Given the description of an element on the screen output the (x, y) to click on. 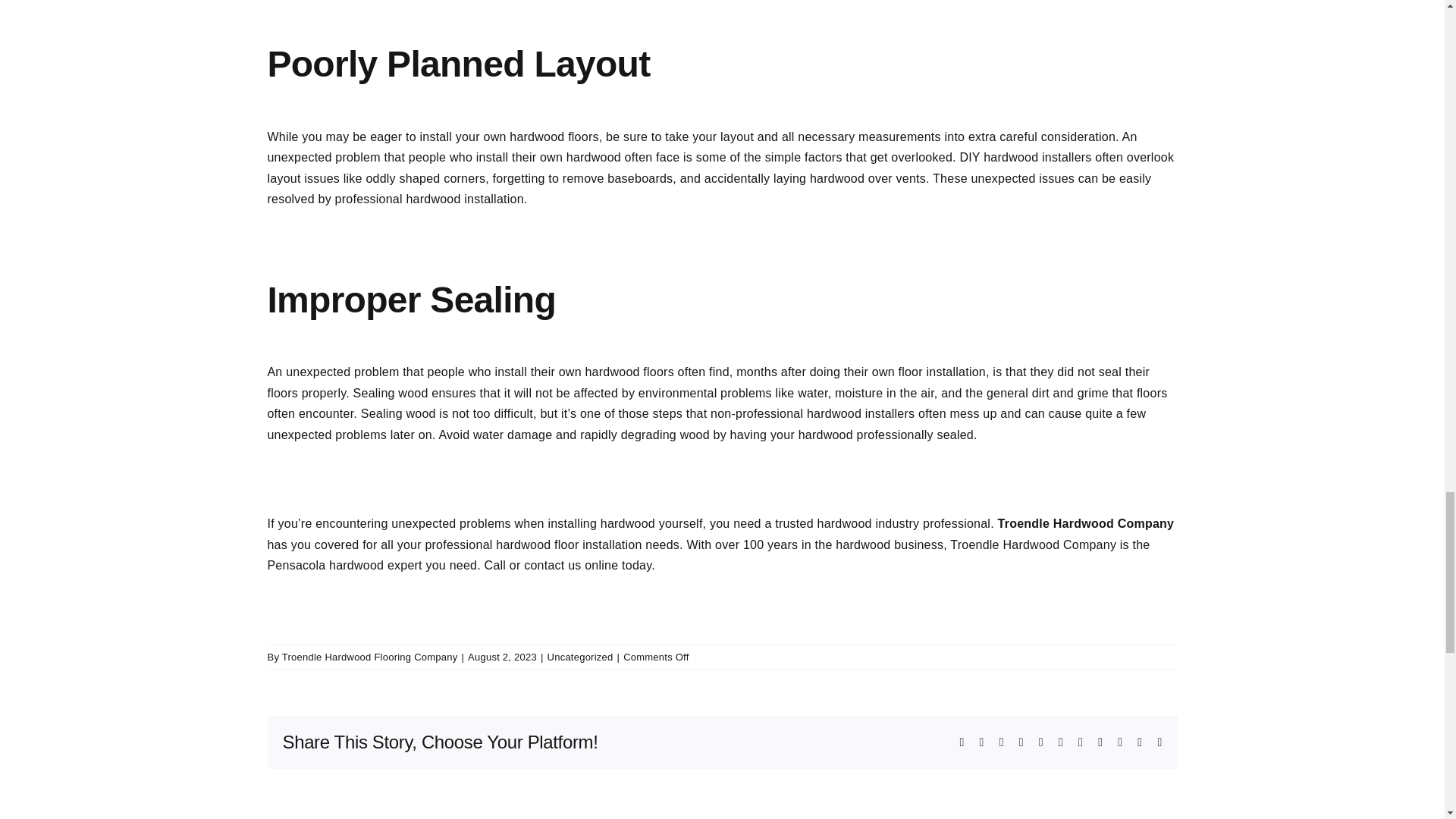
WhatsApp (1041, 742)
Troendle Hardwood Flooring Company (370, 656)
X (981, 742)
Telegram (1060, 742)
Xing (1139, 742)
Uncategorized (579, 656)
Tumblr (1080, 742)
LinkedIn (1021, 742)
Pinterest (1099, 742)
Reddit (1001, 742)
Facebook (961, 742)
Email (1159, 742)
Posts by Troendle Hardwood Flooring Company (370, 656)
